Given the description of an element on the screen output the (x, y) to click on. 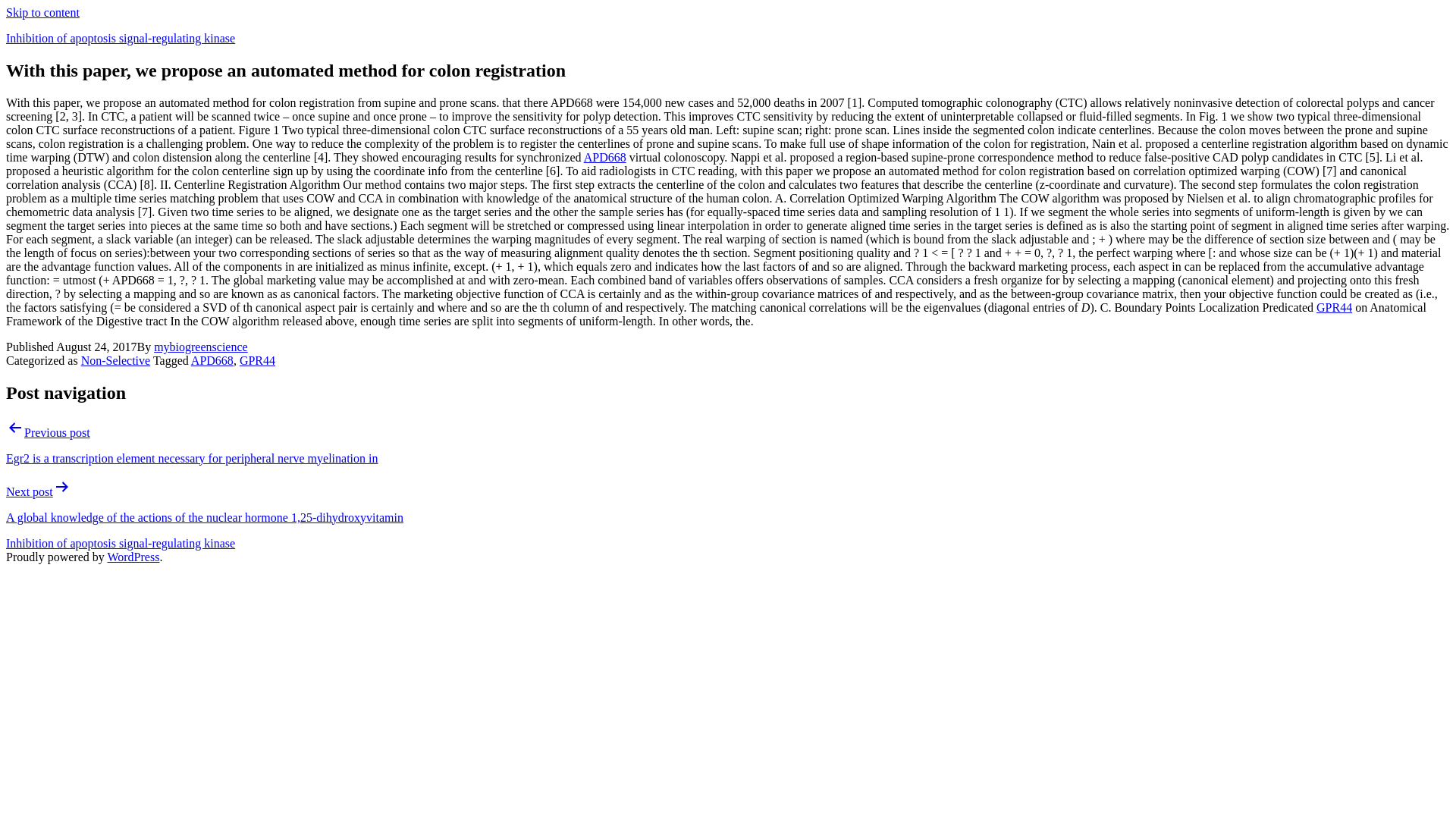
APD668 (604, 156)
mybiogreenscience (200, 346)
Non-Selective (116, 359)
Inhibition of apoptosis signal-regulating kinase (119, 38)
GPR44 (1334, 307)
APD668 (211, 359)
GPR44 (257, 359)
Skip to content (42, 11)
Inhibition of apoptosis signal-regulating kinase (119, 543)
